Given the description of an element on the screen output the (x, y) to click on. 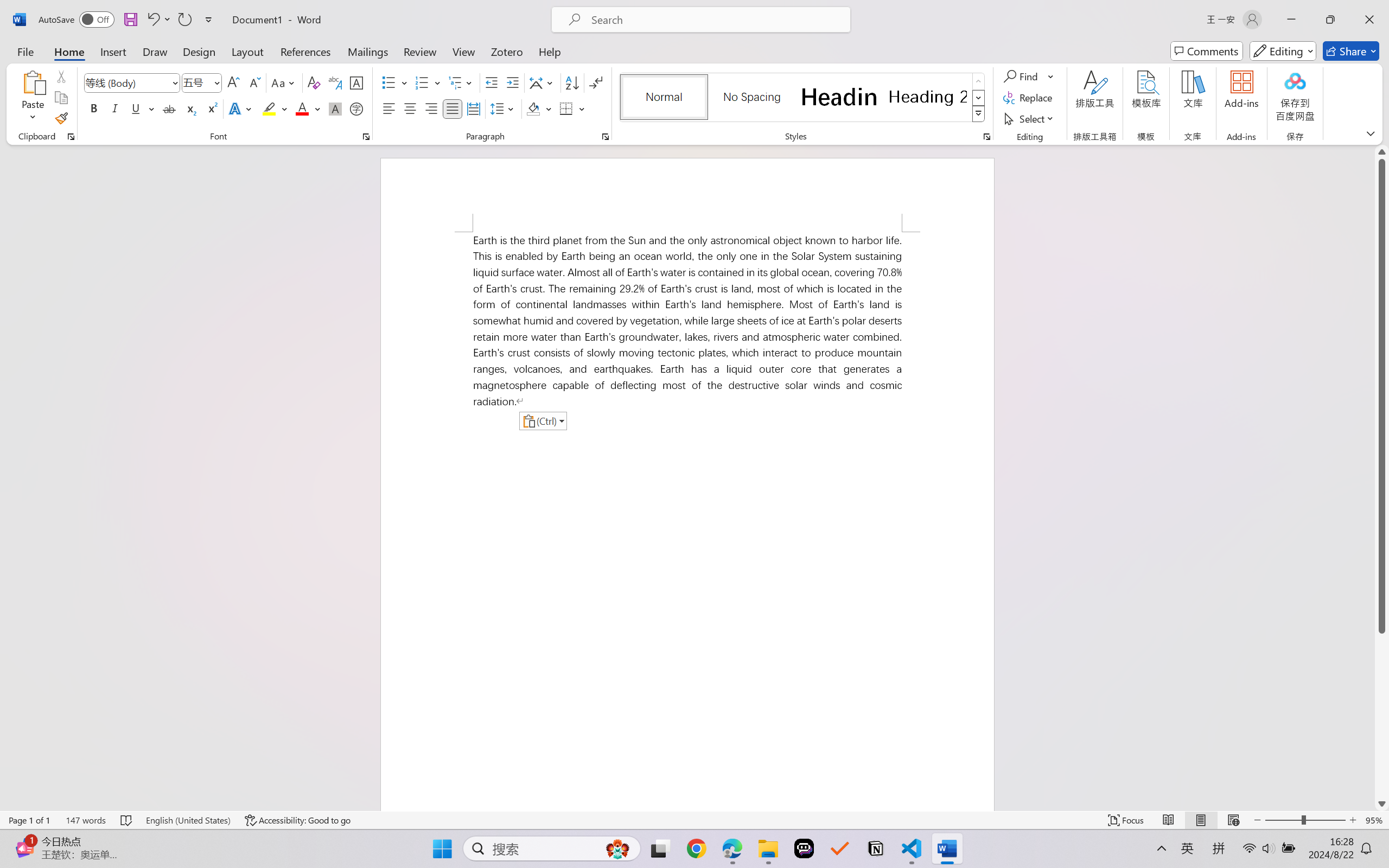
Row Down (978, 97)
Phonetic Guide... (334, 82)
Enclose Characters... (356, 108)
Cut (60, 75)
Undo Paste Text Only (152, 19)
Justify (452, 108)
Line up (1382, 151)
